Given the description of an element on the screen output the (x, y) to click on. 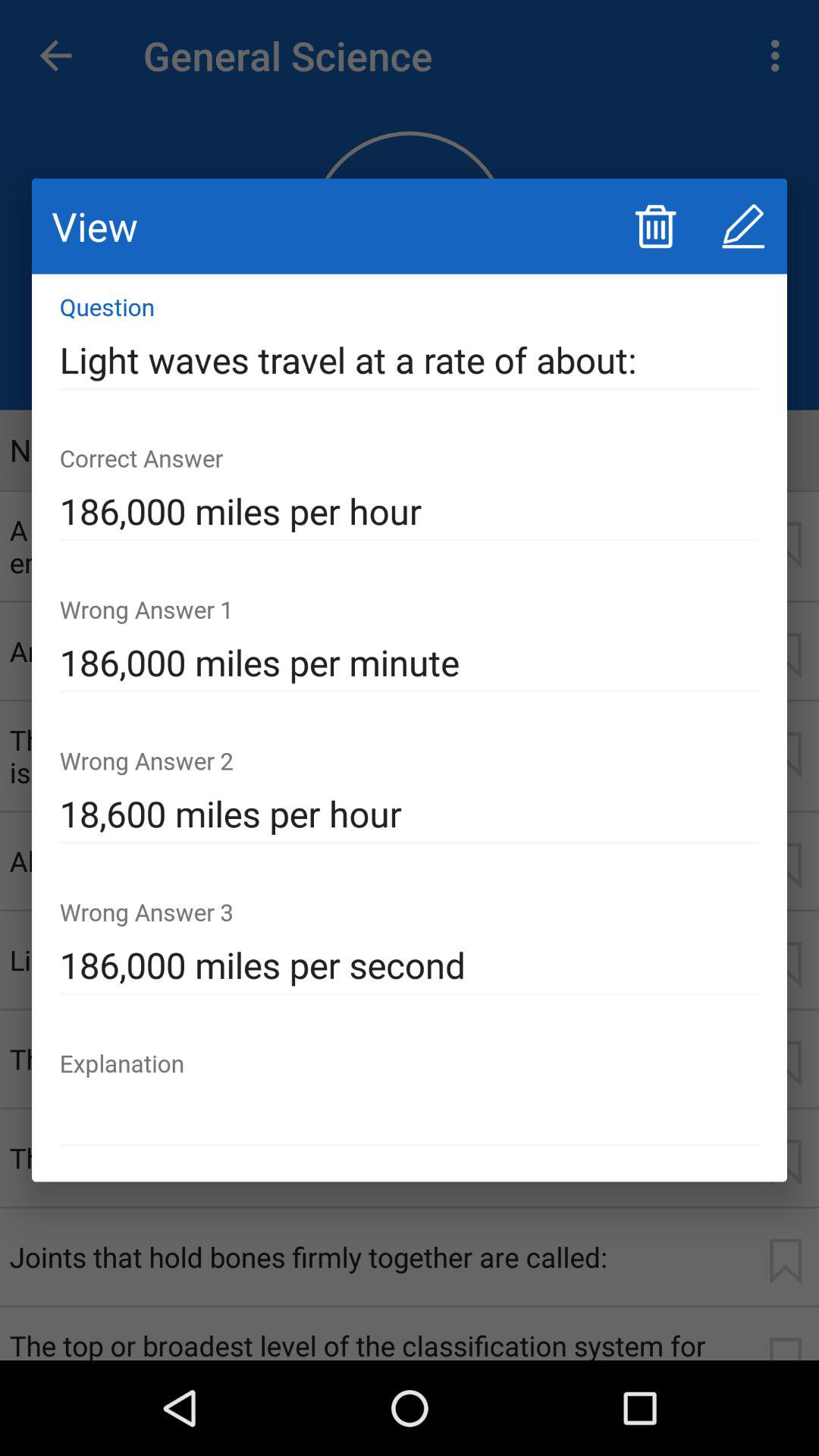
turn on the item above 186 000 miles icon (409, 360)
